Given the description of an element on the screen output the (x, y) to click on. 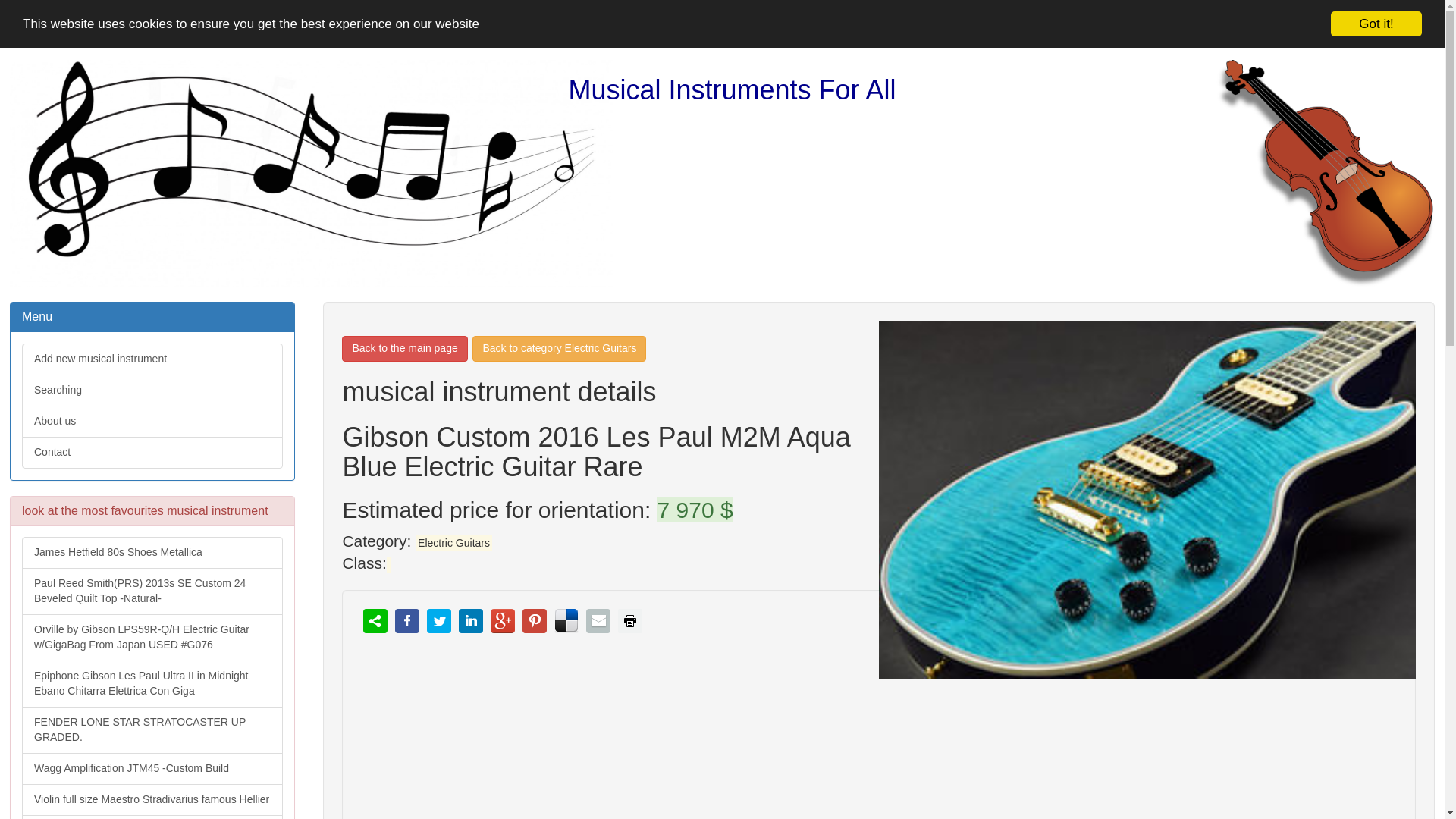
Back to the main page (404, 348)
Back to category Electric Guitars (558, 348)
Advertisement (816, 748)
James Hetfield 80s Shoes Metallica (151, 542)
Wagg Amplification JTM45 -Custom Build (151, 766)
Contact (151, 440)
Add new musical instrument (151, 331)
Rupert Neve Designs RND 543 Kompressor API 500 Format (151, 816)
About us (151, 403)
Searching (151, 368)
FENDER LONE STAR STRATOCASTER UP GRADED. (151, 727)
Violin full size Maestro Stradivarius famous Hellier (151, 798)
